Given the description of an element on the screen output the (x, y) to click on. 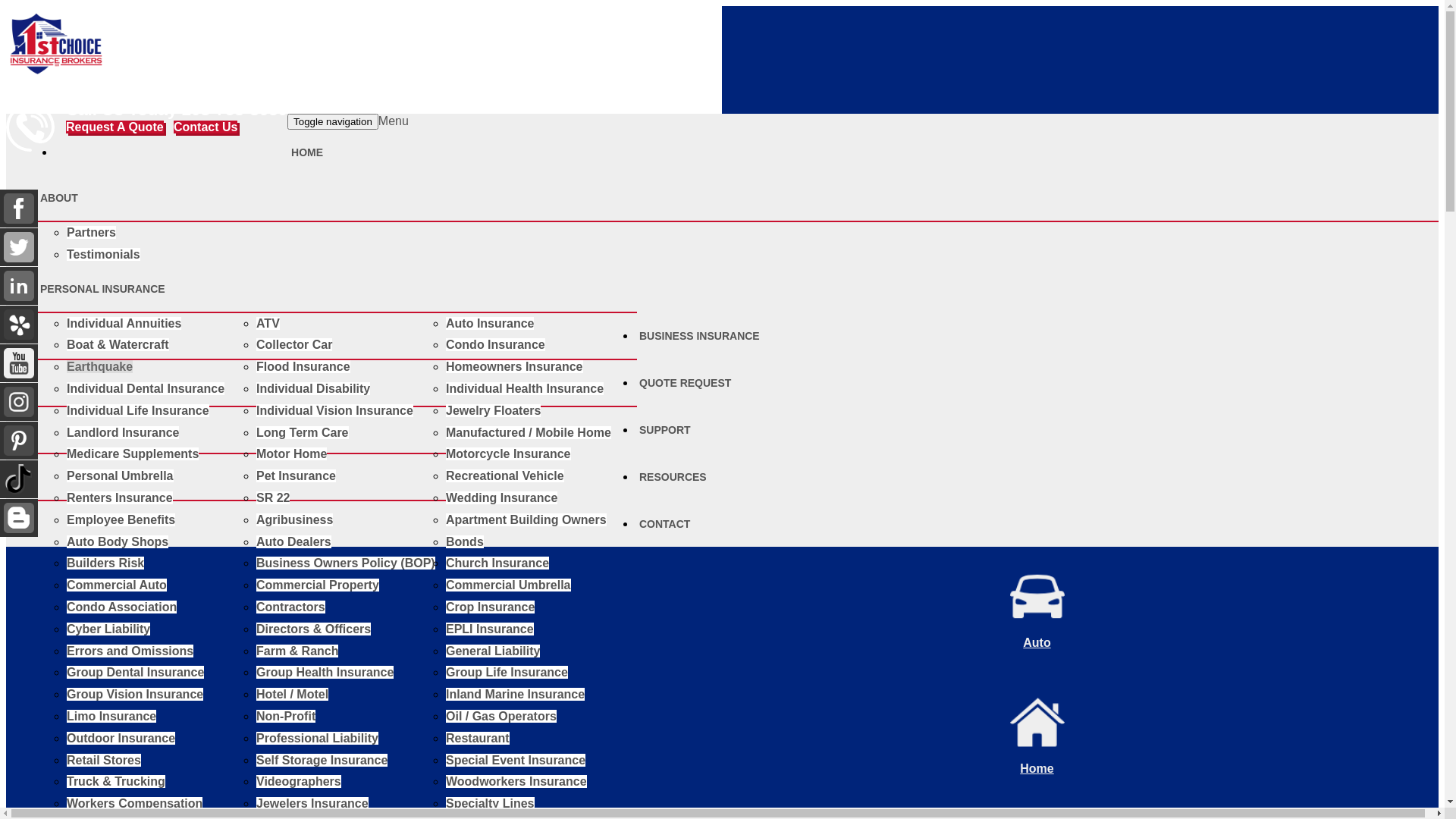
Renters Insurance Element type: text (119, 497)
Group Health Insurance Element type: text (324, 671)
Testimonials Element type: text (103, 253)
Boat & Watercraft Element type: text (117, 344)
Earthquake Element type: text (99, 366)
Condo Association Element type: text (121, 606)
Truck & Trucking Element type: text (115, 781)
Auto Body Shops Element type: text (117, 541)
SUPPORT Element type: text (666, 429)
Request A Quote Element type: text (114, 126)
Self Storage Insurance Element type: text (321, 759)
Long Term Care Element type: text (302, 432)
EPLI Insurance Element type: text (489, 628)
PERSONAL INSURANCE Element type: text (104, 288)
Menu Element type: text (393, 120)
Landlord Insurance Element type: text (122, 432)
RESOURCES Element type: text (674, 476)
Wedding Insurance Element type: text (501, 497)
Farm & Ranch Element type: text (297, 650)
Retail Stores Element type: text (103, 759)
Motor Home Element type: text (291, 453)
Limo Insurance Element type: text (111, 715)
SR 22 Element type: text (272, 497)
Home Element type: text (722, 735)
Group Vision Insurance Element type: text (134, 693)
Workers Compensation Element type: text (134, 803)
Videographers Element type: text (298, 781)
Hotel / Motel Element type: text (292, 693)
Partners Element type: text (91, 231)
Personal Umbrella Element type: text (119, 475)
Agribusiness Element type: text (294, 519)
HOME Element type: text (306, 152)
Individual Disability Element type: text (313, 388)
Individual Vision Insurance Element type: text (334, 410)
Medicare Supplements Element type: text (132, 453)
Condo Insurance Element type: text (495, 344)
Collector Car Element type: text (294, 344)
Business Owners Policy (BOP) Element type: text (345, 562)
Contact Us Element type: text (205, 126)
Homeowners Insurance Element type: text (514, 366)
Special Event Insurance Element type: text (515, 759)
Flood Insurance Element type: text (303, 366)
Crop Insurance Element type: text (489, 606)
Restaurant Element type: text (477, 737)
Auto Element type: text (722, 609)
Church Insurance Element type: text (497, 562)
Individual Health Insurance Element type: text (524, 388)
Recreational Vehicle Element type: text (504, 475)
Directors & Officers Element type: text (313, 628)
Individual Dental Insurance Element type: text (145, 388)
Jewelers Insurance Element type: text (312, 803)
Professional Liability Element type: text (317, 737)
Individual Life Insurance Element type: text (137, 410)
Toggle navigation Element type: text (332, 121)
Auto Dealers Element type: text (293, 541)
Group Life Insurance Element type: text (506, 671)
Commercial Property Element type: text (317, 584)
Jewelry Floaters Element type: text (492, 410)
ATV Element type: text (267, 322)
Individual Annuities Element type: text (123, 322)
Builders Risk Element type: text (105, 562)
Specialty Lines Element type: text (489, 803)
Commercial Auto Element type: text (116, 584)
Outdoor Insurance Element type: text (120, 737)
Inland Marine Insurance Element type: text (514, 693)
Auto Insurance Element type: text (489, 322)
Pet Insurance Element type: text (295, 475)
Cyber Liability Element type: text (108, 628)
208-758-8050 Element type: text (234, 109)
CONTACT Element type: text (664, 523)
Manufactured / Mobile Home Element type: text (528, 432)
Bonds Element type: text (464, 541)
BUSINESS INSURANCE Element type: text (700, 335)
General Liability Element type: text (492, 650)
Errors and Omissions Element type: text (129, 650)
Contractors Element type: text (290, 606)
Employee Benefits Element type: text (120, 519)
Apartment Building Owners Element type: text (525, 519)
Woodworkers Insurance Element type: text (515, 781)
ABOUT Element type: text (60, 197)
Group Dental Insurance Element type: text (134, 671)
Non-Profit Element type: text (285, 715)
QUOTE REQUEST Element type: text (686, 382)
Commercial Umbrella Element type: text (508, 584)
Motorcycle Insurance Element type: text (508, 453)
Oil / Gas Operators Element type: text (500, 715)
